Given the description of an element on the screen output the (x, y) to click on. 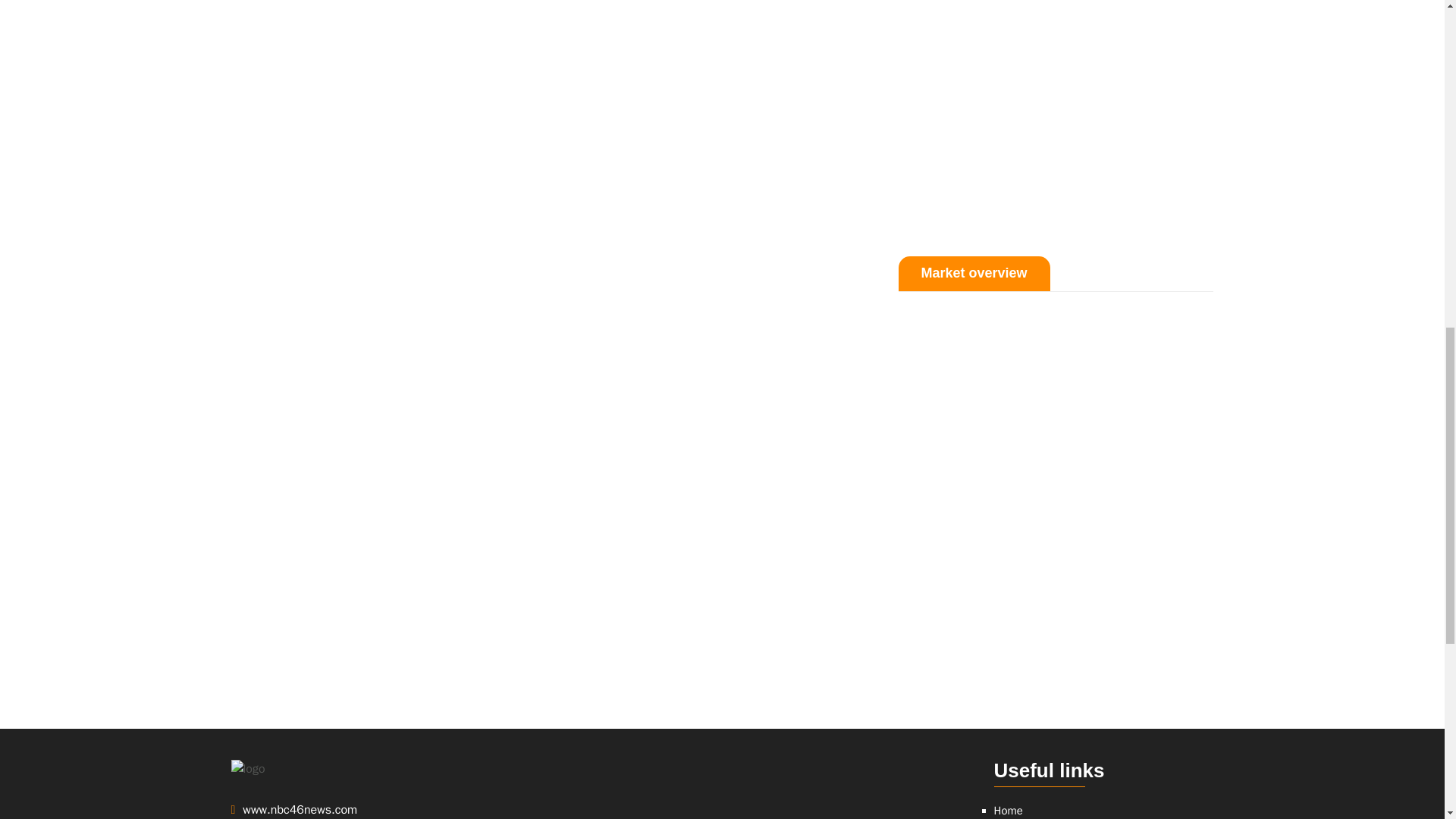
market overview TradingView widget (1055, 485)
Home (1007, 810)
www.nbc46news.com (346, 809)
events TradingView widget (1055, 113)
symbol overview TradingView widget (721, 789)
